Given the description of an element on the screen output the (x, y) to click on. 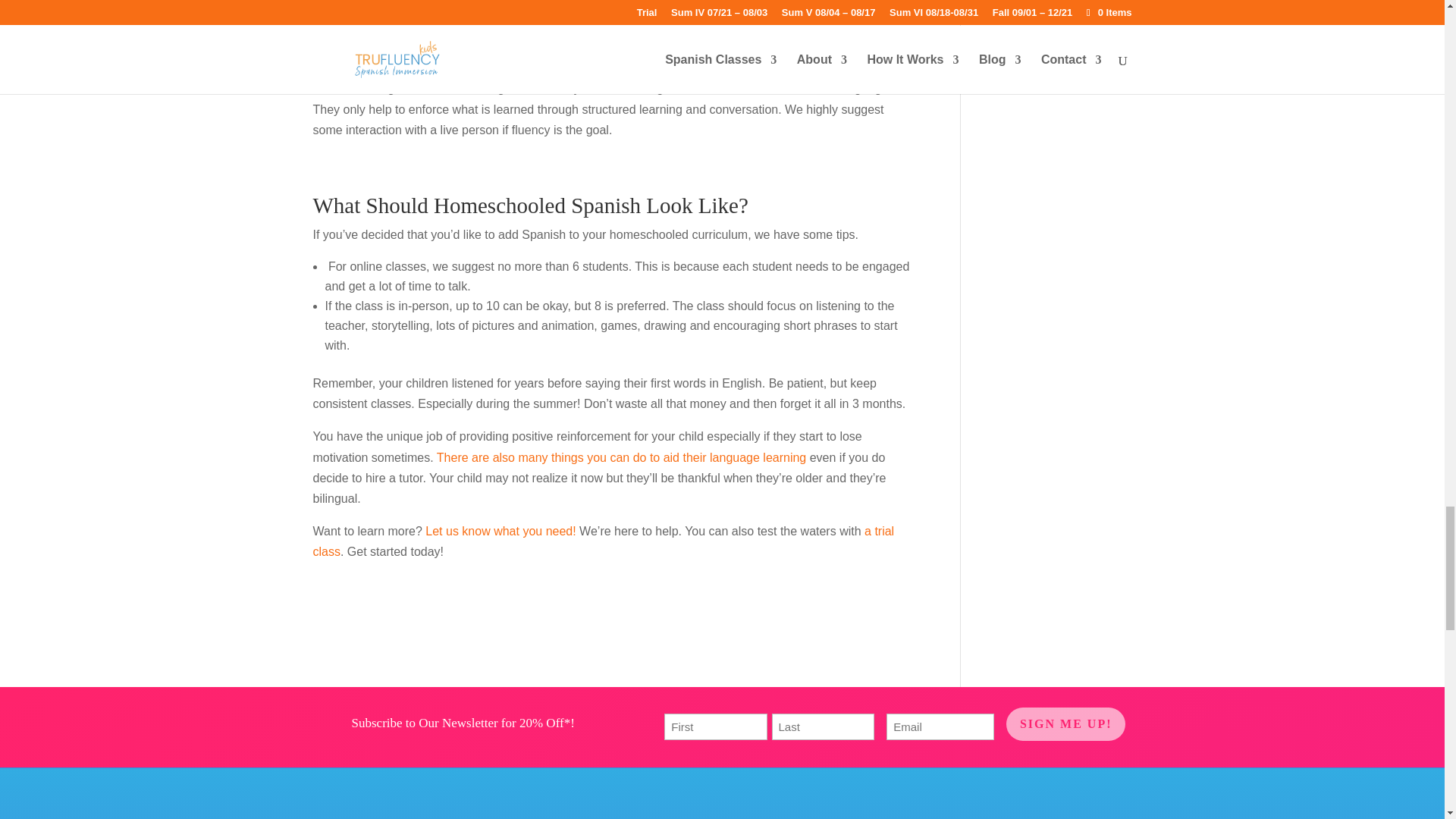
Sign Me Up! (1065, 724)
